Given the description of an element on the screen output the (x, y) to click on. 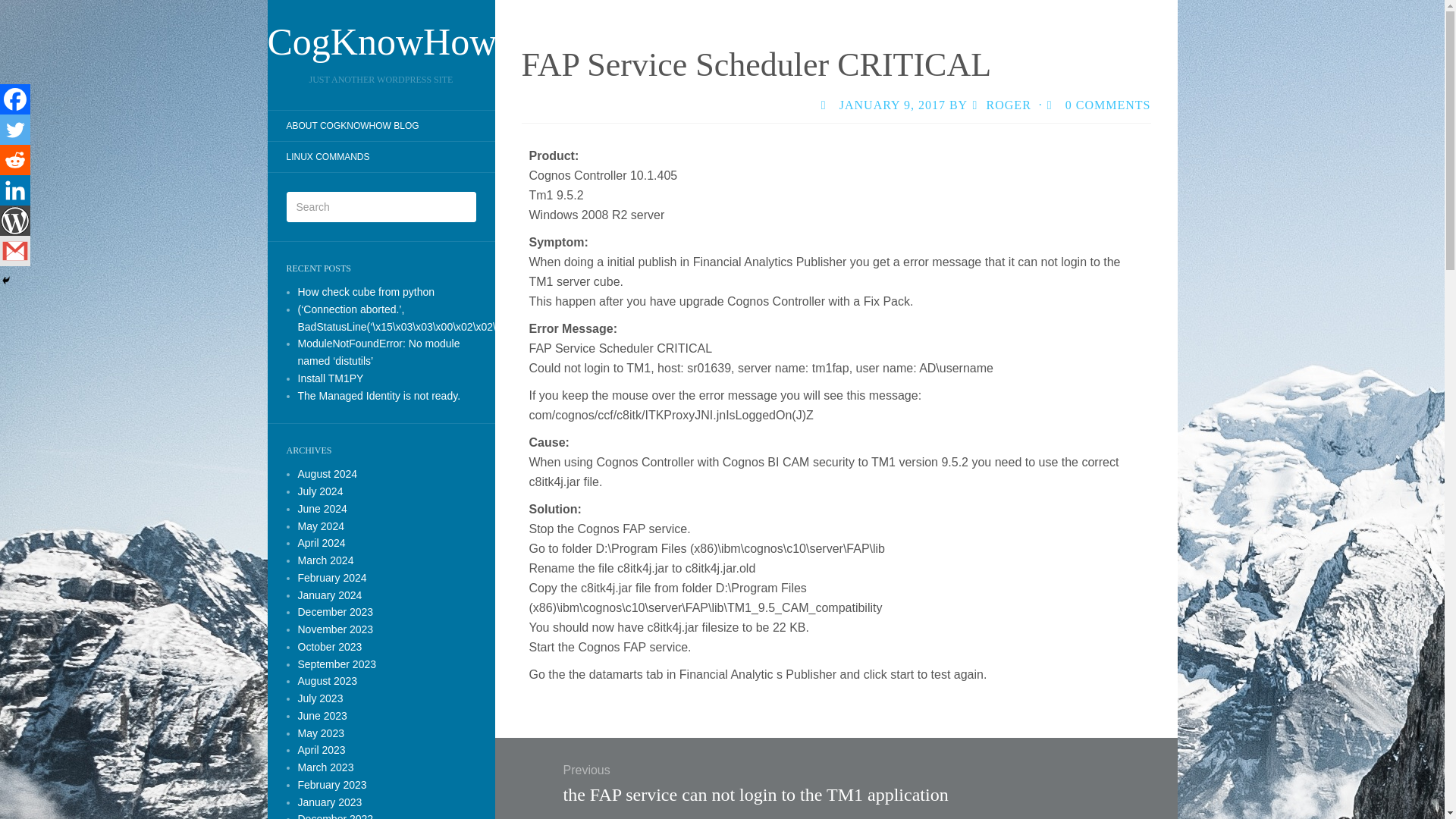
June 2023 (321, 715)
December 2022 (334, 816)
May 2023 (320, 732)
September 2023 (336, 664)
CogKnowHow (380, 41)
LINUX COMMANDS (327, 156)
May 2024 (320, 526)
July 2024 (319, 491)
WordPress (15, 220)
CogKnowHow (380, 41)
January 2023 (329, 802)
Hide (5, 280)
December 2023 (334, 612)
April 2023 (321, 749)
ABOUT COGKNOWHOW BLOG (352, 125)
